Given the description of an element on the screen output the (x, y) to click on. 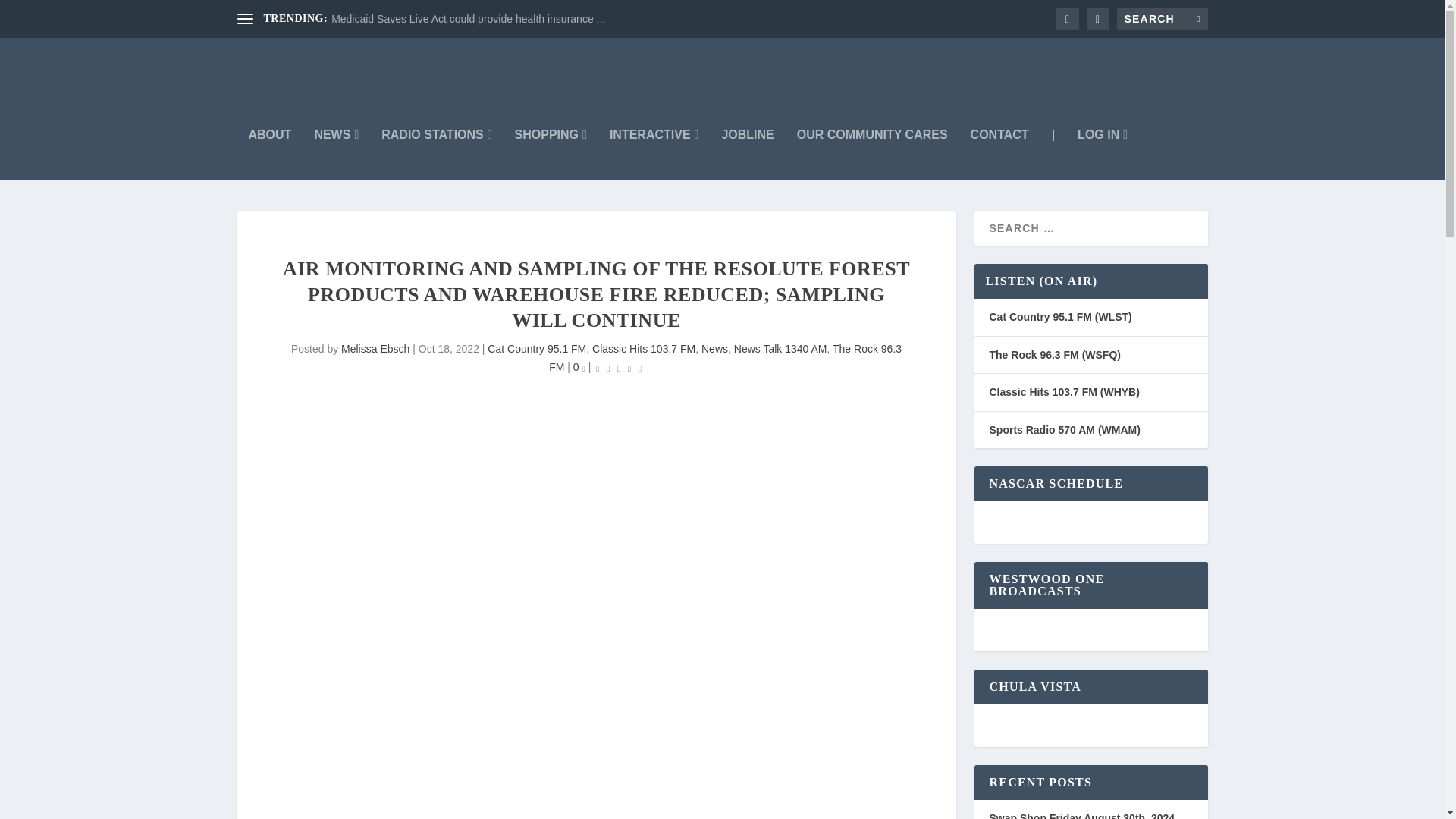
LOG IN (1101, 154)
OUR COMMUNITY CARES (871, 154)
Classic Hits 103.7 FM (643, 348)
News Talk 1340 AM (780, 348)
RADIO STATIONS (436, 154)
Search for: (1161, 18)
SHOPPING (550, 154)
Rating: 3.00 (618, 367)
Medicaid Saves Live Act could provide health insurance ... (468, 19)
INTERACTIVE (654, 154)
